Given the description of an element on the screen output the (x, y) to click on. 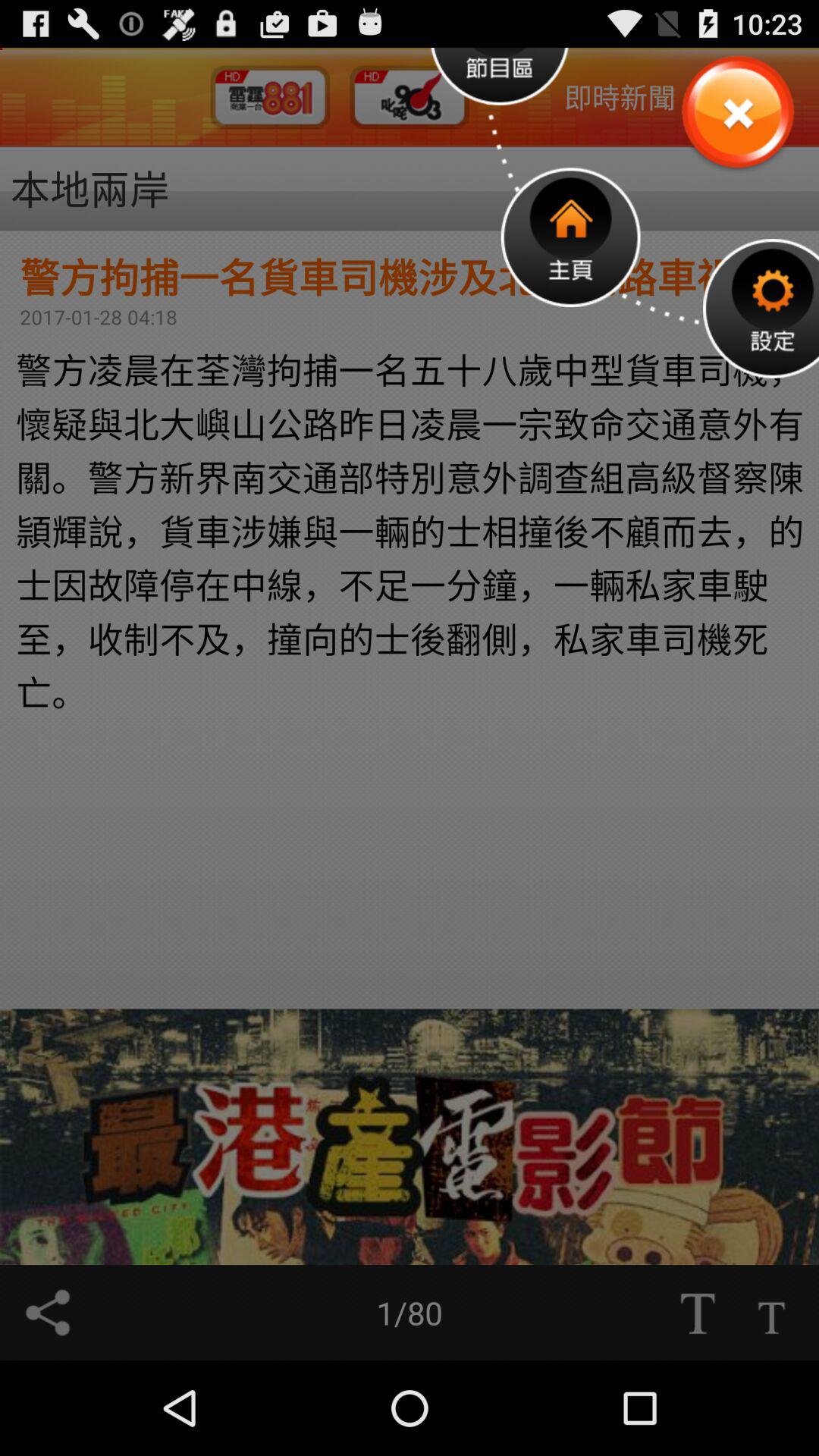
go to text (697, 1312)
